Given the description of an element on the screen output the (x, y) to click on. 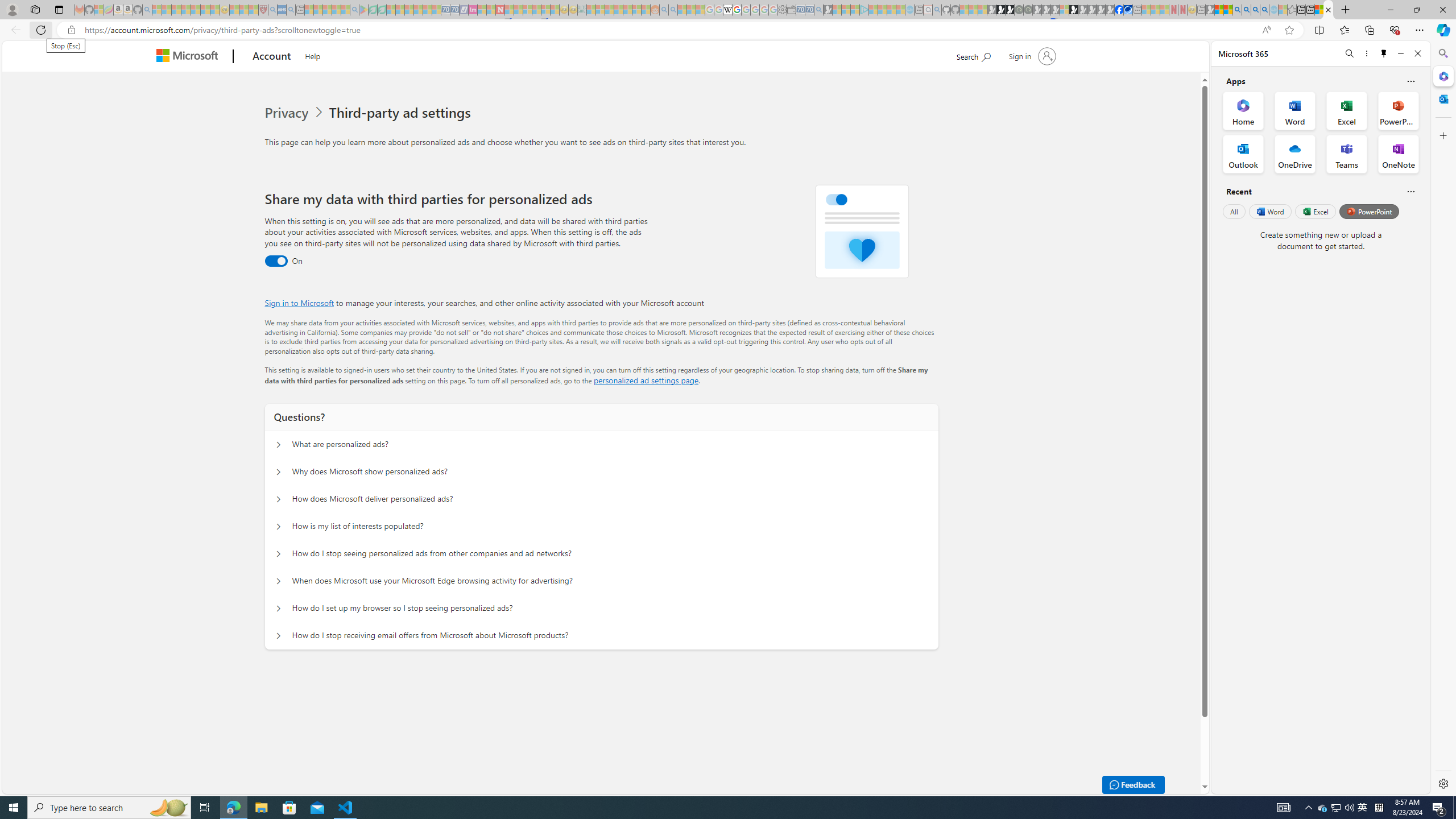
Pets - MSN - Sleeping (336, 9)
Questions? How does Microsoft deliver personalized ads? (278, 499)
Microsoft-Report a Concern to Bing - Sleeping (98, 9)
Bing Real Estate - Home sales and rental listings - Sleeping (818, 9)
Target page - Wikipedia (726, 9)
AirNow.gov (1127, 9)
Google Chrome Internet Browser Download - Search Images (1264, 9)
Privacy (295, 112)
DITOGAMES AG Imprint - Sleeping (581, 9)
